Given the description of an element on the screen output the (x, y) to click on. 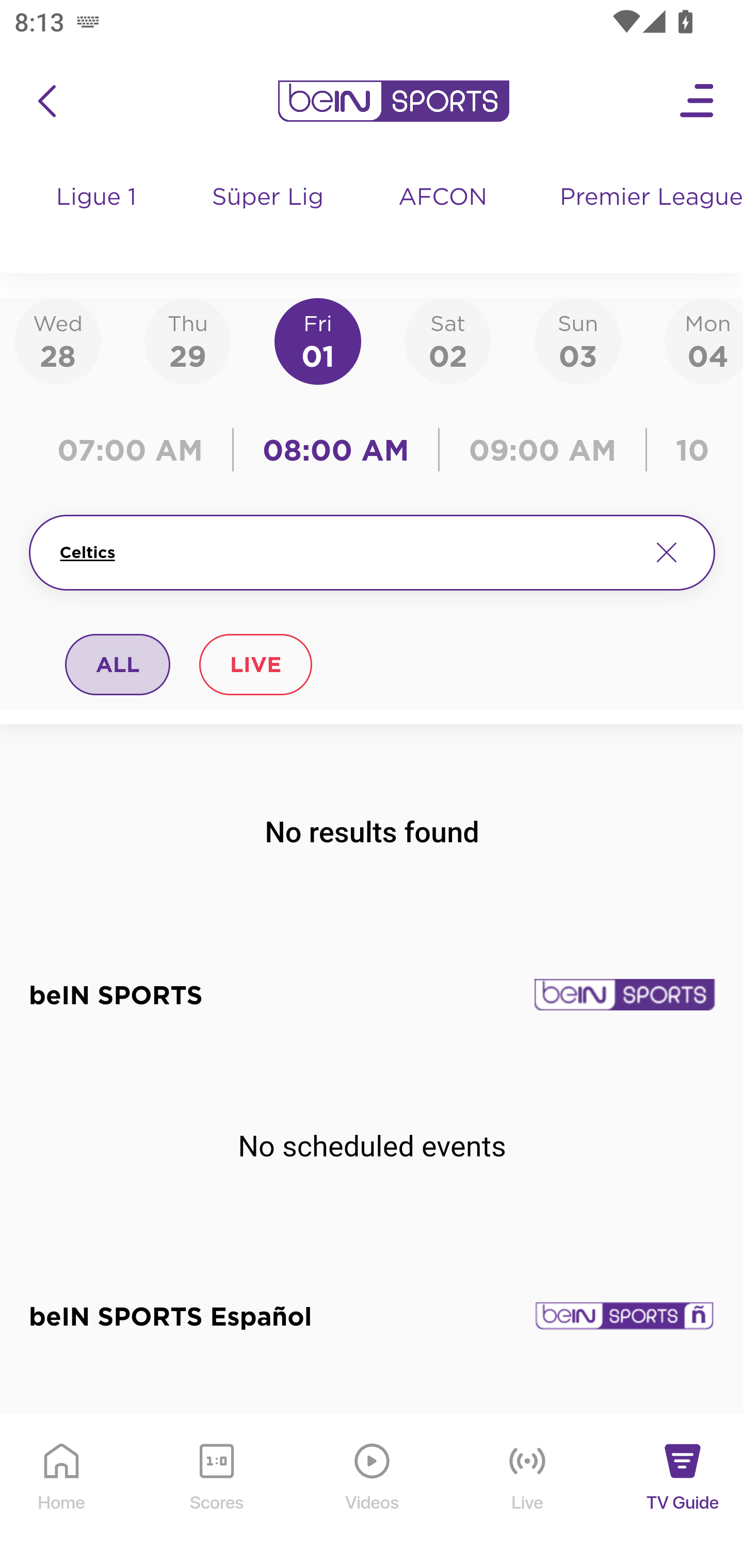
en-us?platform=mobile_android bein logo (392, 101)
icon back (46, 101)
Open Menu Icon (697, 101)
Ligue 1 (97, 216)
Süper Lig (268, 216)
AFCON (442, 198)
Premier League (643, 198)
Wed28 (58, 340)
Thu29 (187, 340)
Fri01 (318, 340)
Sat02 (447, 340)
Sun03 (578, 340)
Mon04 (703, 340)
07:00 AM (135, 449)
08:00 AM (336, 449)
09:00 AM (542, 449)
Celtics (346, 552)
ALL (118, 663)
LIVE (255, 663)
Home Home Icon Home (61, 1491)
Scores Scores Icon Scores (216, 1491)
Videos Videos Icon Videos (372, 1491)
TV Guide TV Guide Icon TV Guide (682, 1491)
